Given the description of an element on the screen output the (x, y) to click on. 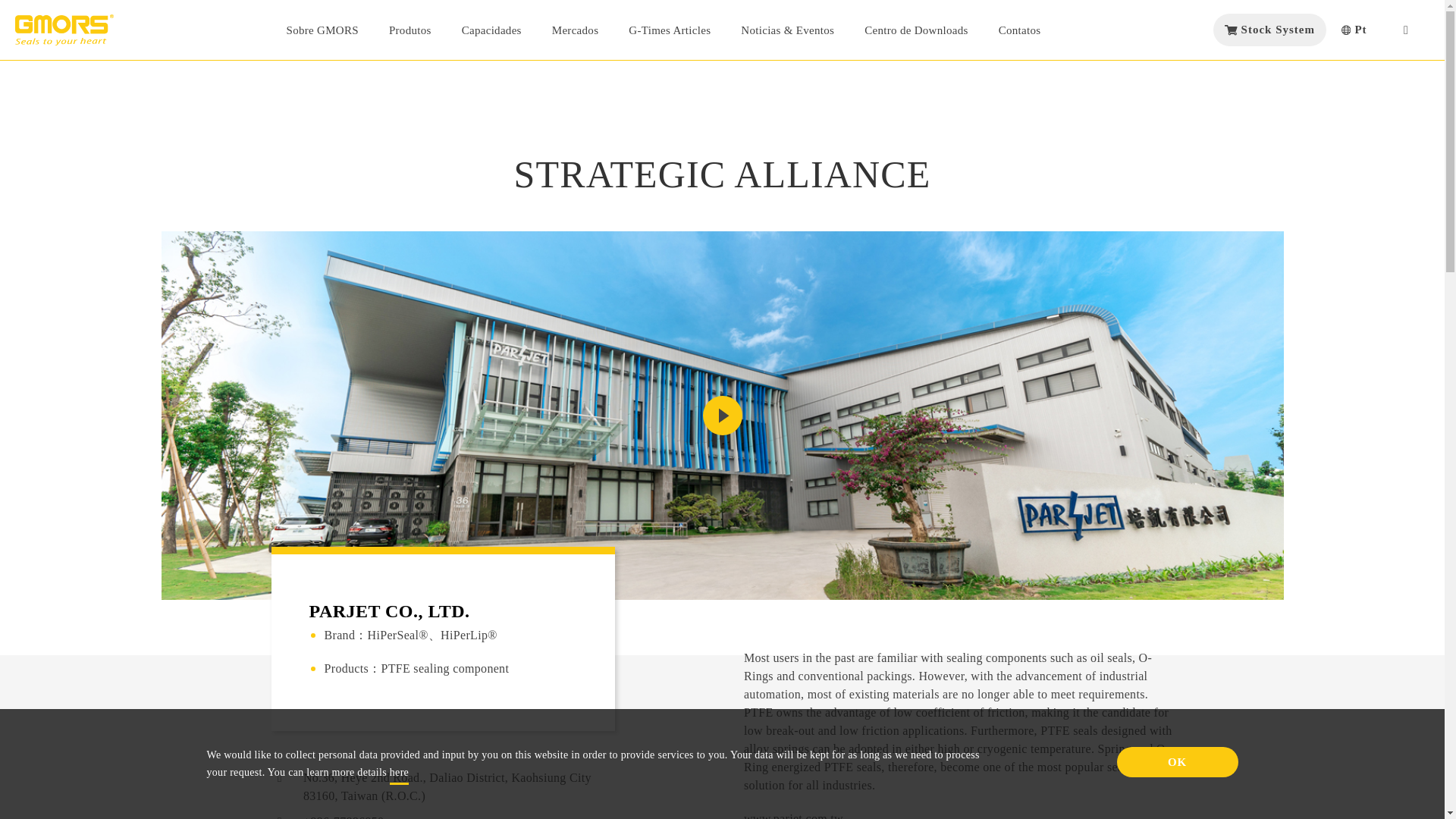
Sobre GMORS (322, 30)
Produtos (410, 30)
